Given the description of an element on the screen output the (x, y) to click on. 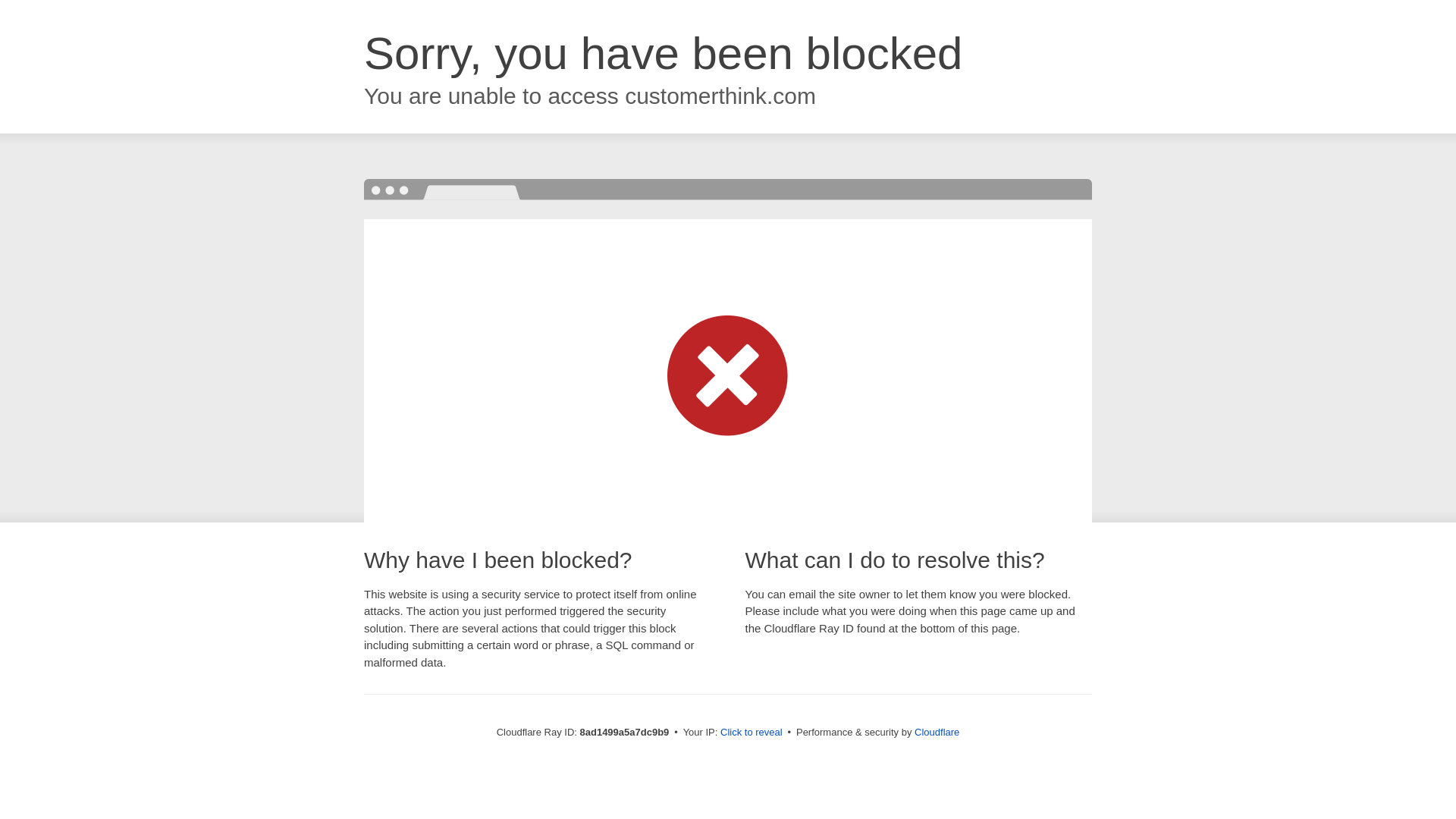
Click to reveal (751, 732)
Cloudflare (936, 731)
